Given the description of an element on the screen output the (x, y) to click on. 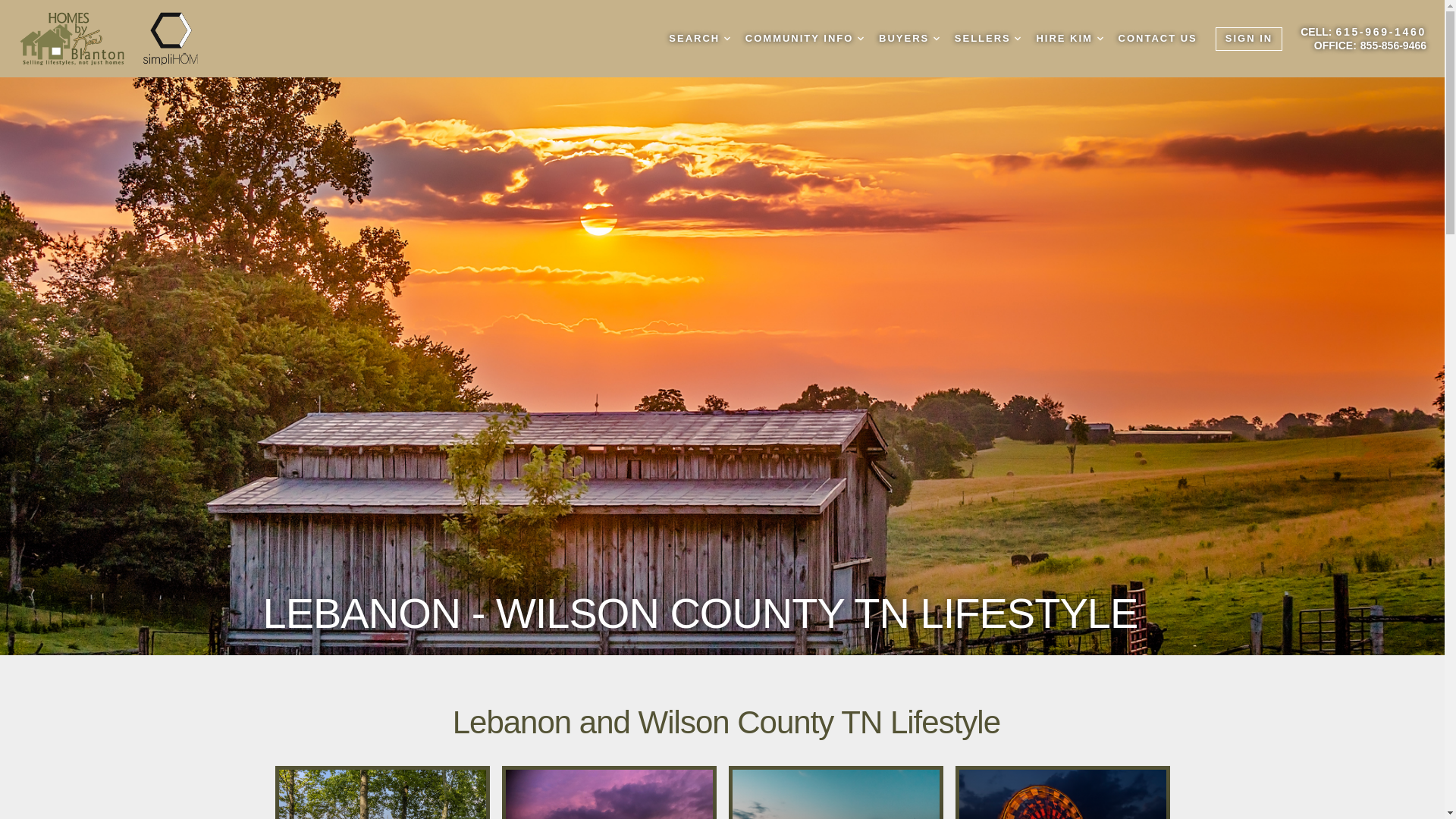
DROPDOWN ARROW (1017, 38)
DROPDOWN ARROW (1100, 38)
SELLERS DROPDOWN ARROW (988, 38)
BUYERS DROPDOWN ARROW (909, 38)
DROPDOWN ARROW (726, 38)
DROPDOWN ARROW (936, 38)
SEARCH DROPDOWN ARROW (699, 38)
DROPDOWN ARROW (860, 38)
COMMUNITY INFO DROPDOWN ARROW (804, 38)
